Given the description of an element on the screen output the (x, y) to click on. 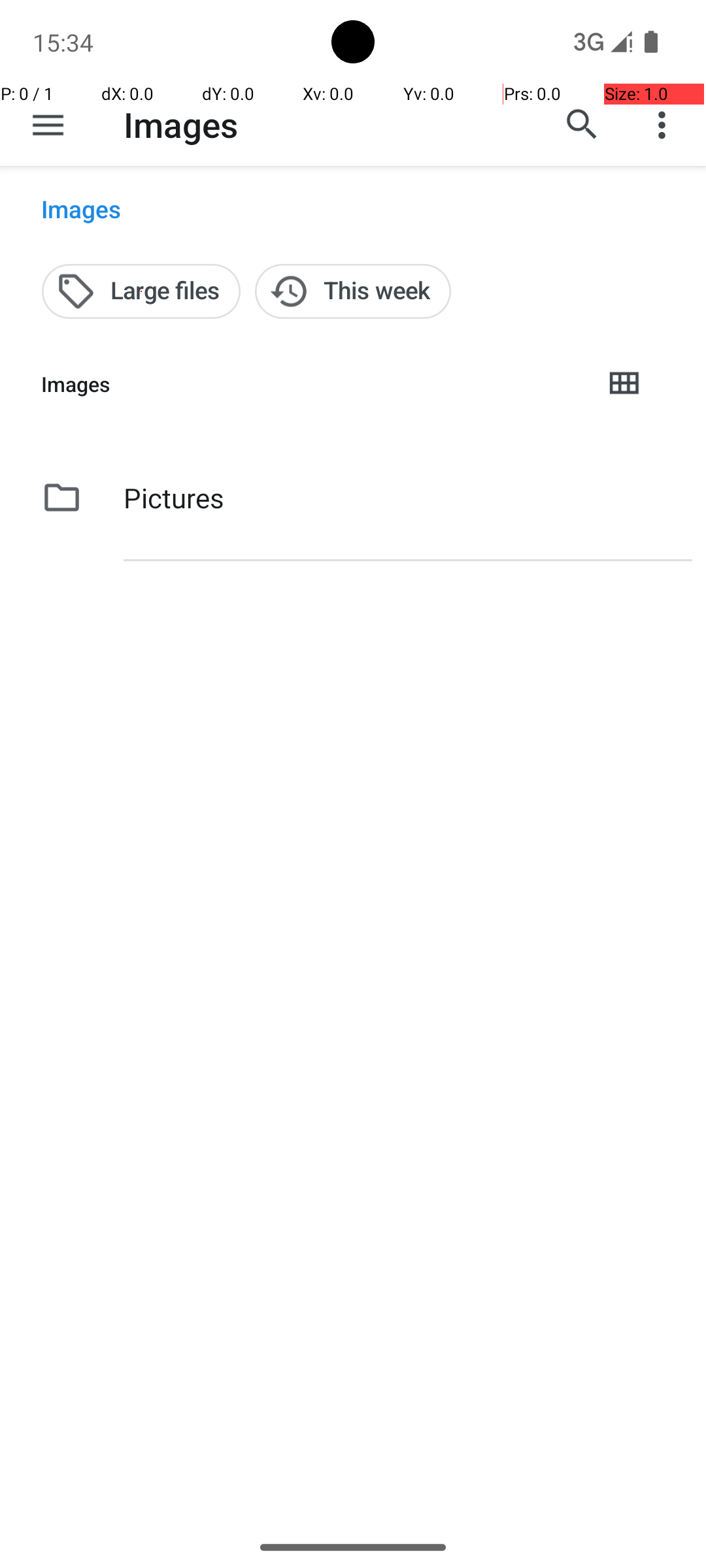
Show roots Element type: android.widget.ImageButton (48, 124)
Images Element type: android.widget.TextView (180, 124)
Grid view Element type: android.widget.TextView (622, 384)
Large files Element type: android.widget.CompoundButton (140, 291)
This week Element type: android.widget.CompoundButton (352, 291)
Pictures Element type: android.widget.TextView (173, 497)
